Given the description of an element on the screen output the (x, y) to click on. 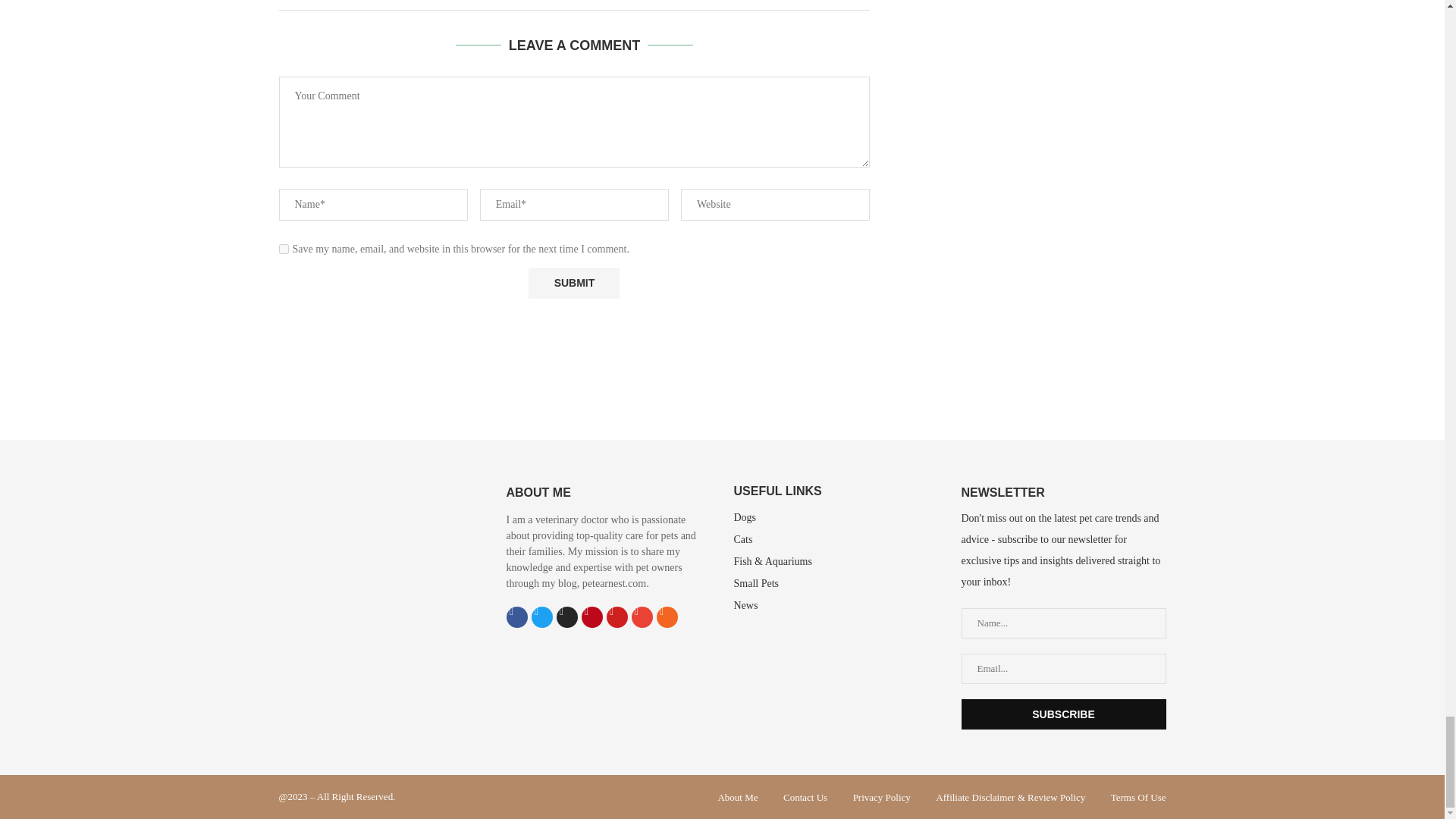
Subscribe (1063, 714)
yes (283, 248)
Submit (574, 282)
